Given the description of an element on the screen output the (x, y) to click on. 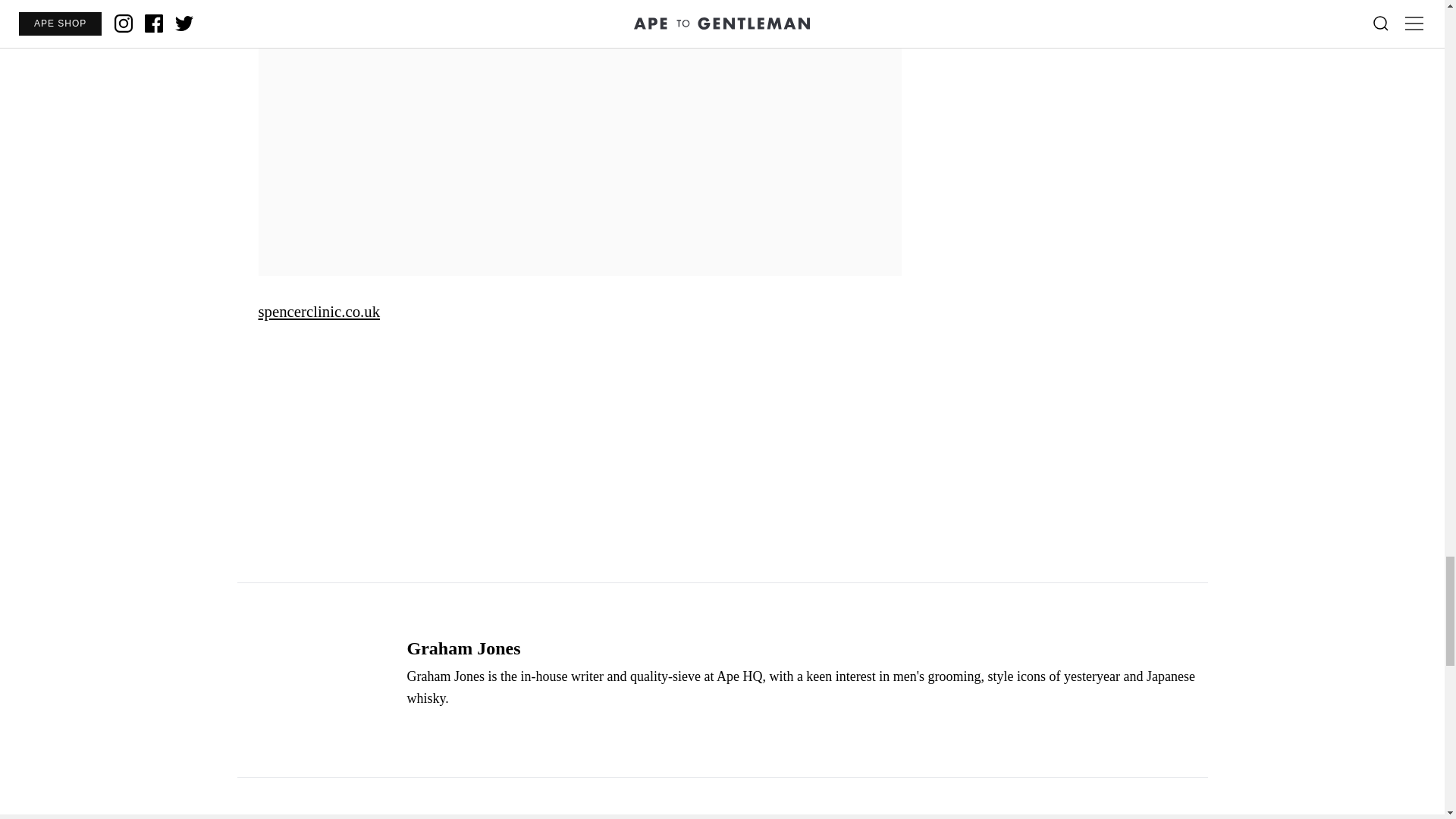
style icons of yesteryear (1053, 676)
spencerclinic.co.uk (318, 311)
Graham Jones (462, 648)
men's grooming (937, 676)
